Given the description of an element on the screen output the (x, y) to click on. 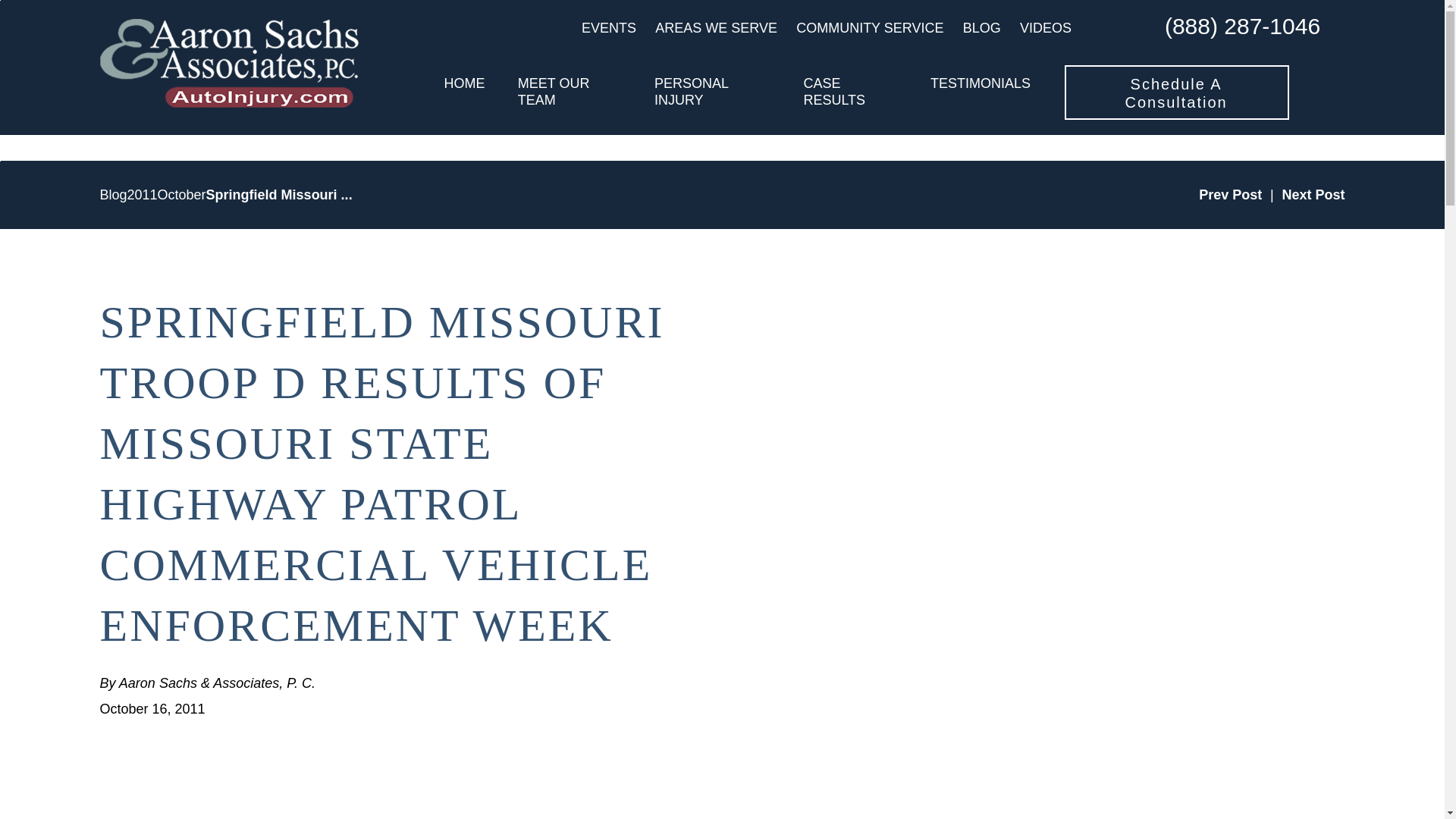
EVENTS (608, 28)
AREAS WE SERVE (716, 28)
VIDEOS (1045, 28)
PERSONAL INJURY (711, 92)
COMMUNITY SERVICE (869, 28)
HOME (464, 92)
BLOG (981, 28)
MEET OUR TEAM (569, 92)
